Given the description of an element on the screen output the (x, y) to click on. 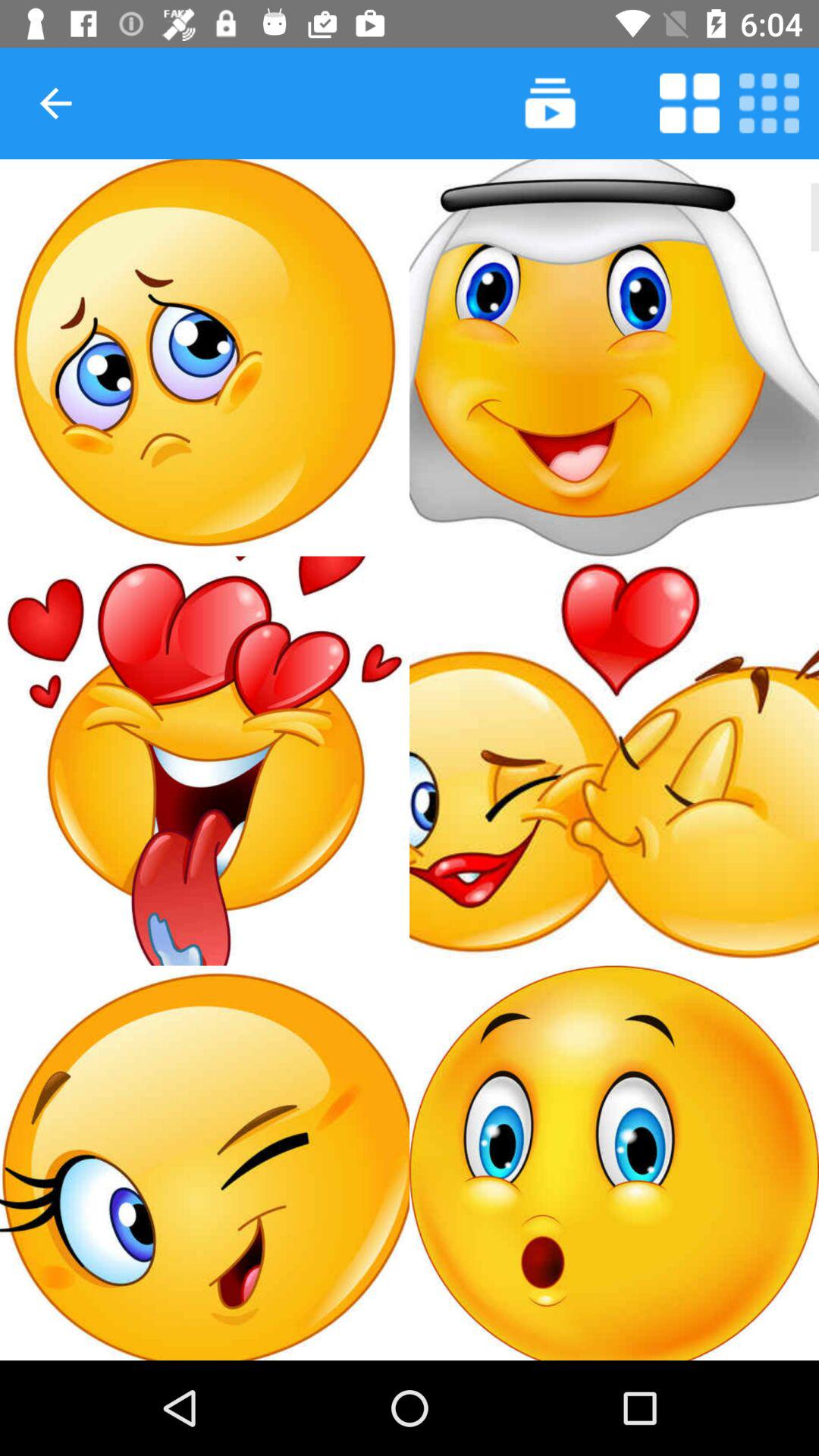
toggle autoplay option (769, 103)
